Given the description of an element on the screen output the (x, y) to click on. 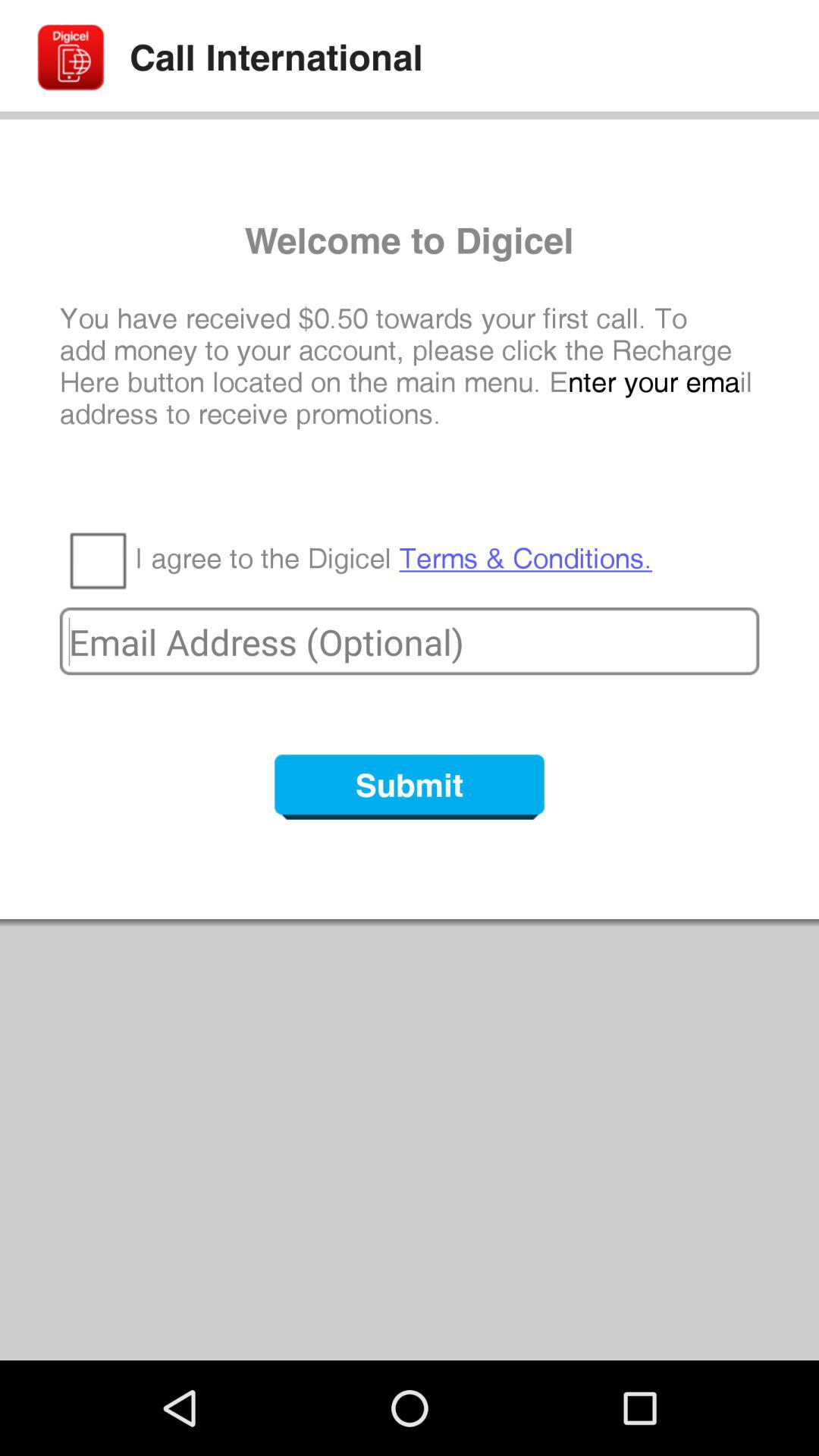
launch the item next to the i agree to (97, 559)
